Given the description of an element on the screen output the (x, y) to click on. 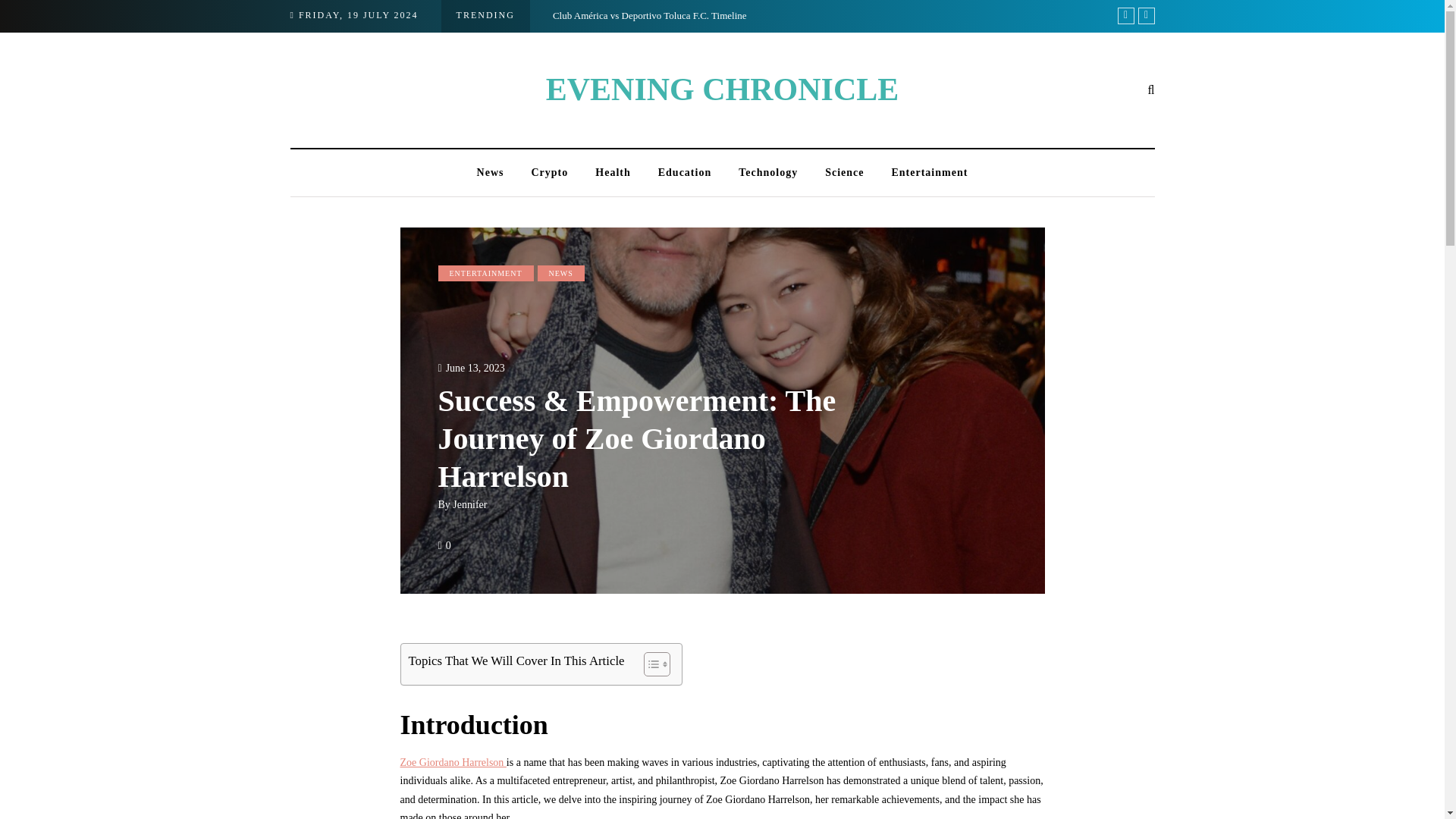
Entertainment (929, 172)
0 (448, 545)
Health (611, 172)
Zoe Giordano Harrelson (453, 762)
Science (843, 172)
Jennifer (469, 504)
ENTERTAINMENT (486, 273)
News (490, 172)
Crypto (548, 172)
EVENING CHRONICLE (722, 89)
Hunter Awtrey Death: Understanding the Tragic Incident (1218, 15)
Posts by Jennifer (469, 504)
Education (685, 172)
Technology (767, 172)
NEWS (561, 273)
